Given the description of an element on the screen output the (x, y) to click on. 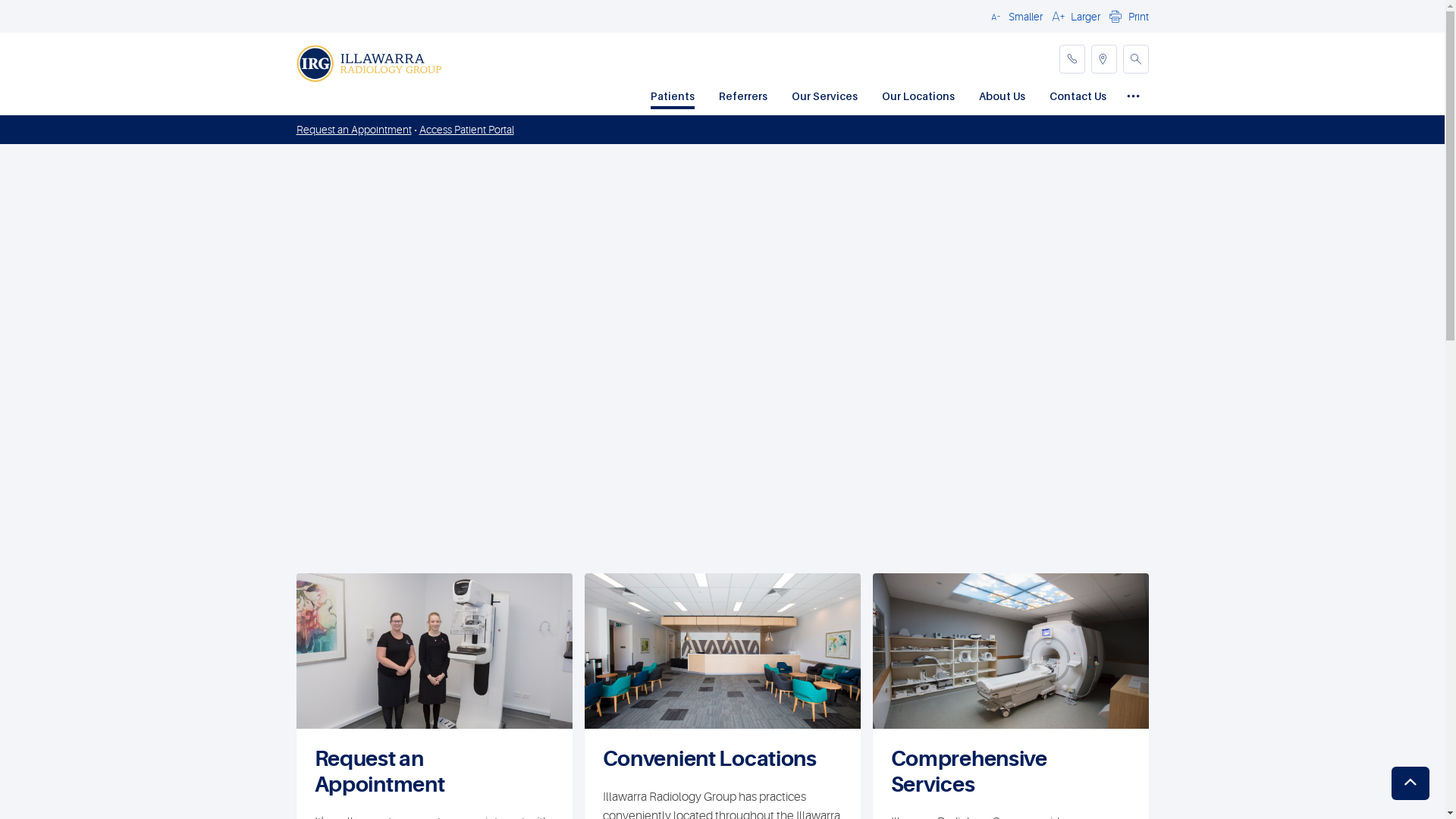
Referrers Element type: text (742, 97)
Patients Element type: text (672, 97)
Request an Appointment Element type: text (378, 771)
Larger Element type: text (1073, 15)
Our Locations Element type: text (917, 97)
Our Services Element type: text (824, 97)
Comprehensive Services Element type: text (968, 771)
Request an Appointment Element type: text (353, 129)
Print Element type: text (1126, 15)
Convenient Locations Element type: text (708, 758)
Access Patient Portal Element type: text (465, 129)
location Element type: hover (1103, 58)
phone Element type: hover (1071, 58)
Smaller Element type: text (1013, 15)
Contact Us Element type: text (1077, 97)
About Us Element type: text (1001, 97)
